Given the description of an element on the screen output the (x, y) to click on. 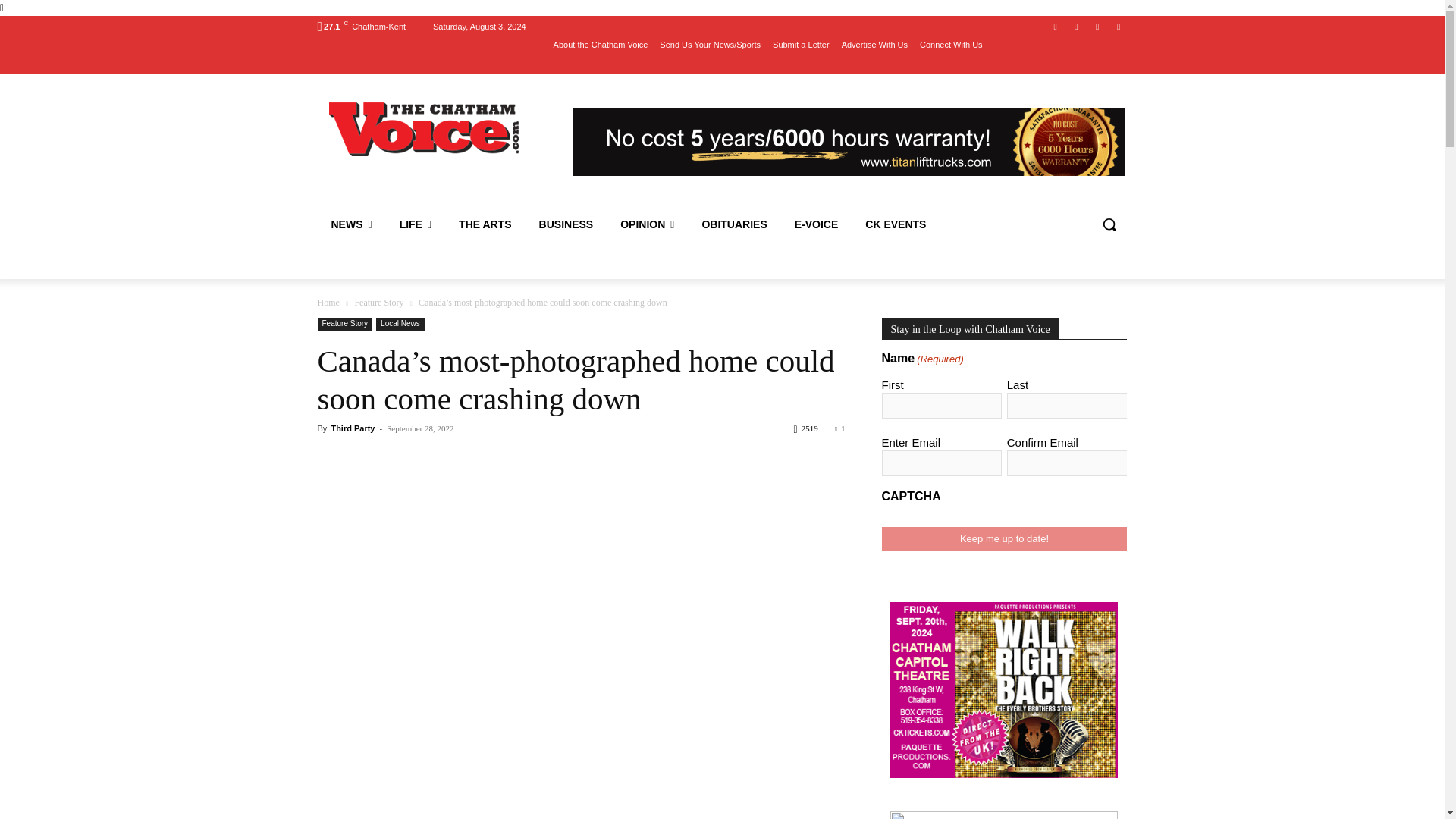
Rss (1117, 27)
Chatham Voice (426, 128)
Facebook (1055, 27)
About the Chatham Voice (600, 44)
Twitter (1097, 27)
LIFE (415, 224)
Chatham Voice (425, 128)
BUSINESS (566, 224)
Keep me up to date! (1003, 538)
OPINION (647, 224)
Submit a Letter (801, 44)
Advertise With Us (874, 44)
Youtube (1075, 27)
THE ARTS (484, 224)
NEWS (351, 224)
